Given the description of an element on the screen output the (x, y) to click on. 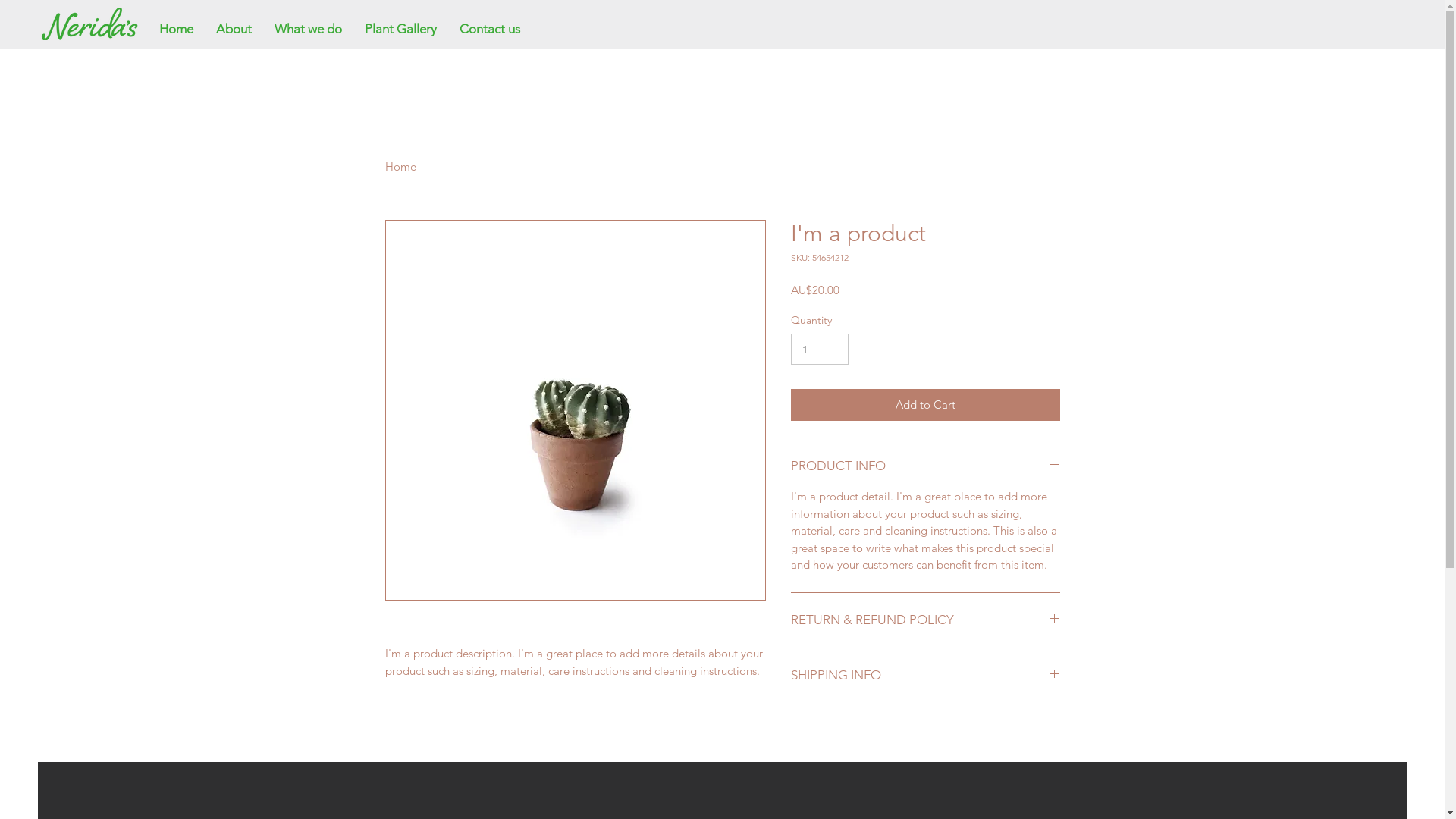
Plant Gallery Element type: text (400, 28)
SHIPPING INFO Element type: text (924, 675)
Home Element type: text (400, 166)
About Element type: text (233, 28)
Add to Cart Element type: text (924, 405)
Home Element type: text (175, 28)
Contact us Element type: text (489, 28)
RETURN & REFUND POLICY Element type: text (924, 620)
PRODUCT INFO Element type: text (924, 466)
